Given the description of an element on the screen output the (x, y) to click on. 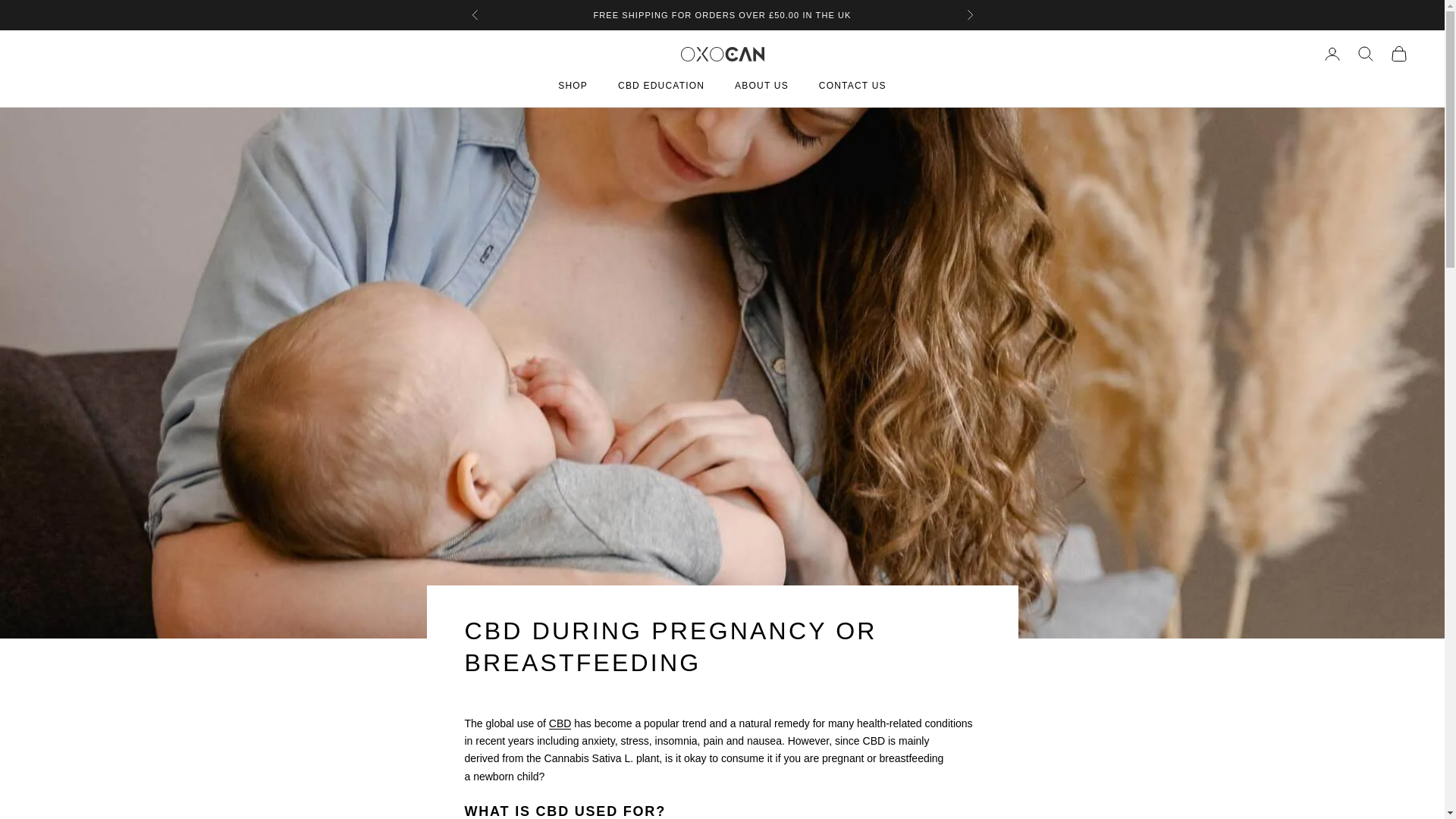
Oxocan (722, 53)
CONTACT US (852, 85)
CBD (560, 723)
ABOUT US (762, 85)
Open search (1365, 54)
Open account page (1331, 54)
Open cart (1398, 54)
CBD EDUCATION (660, 85)
